Given the description of an element on the screen output the (x, y) to click on. 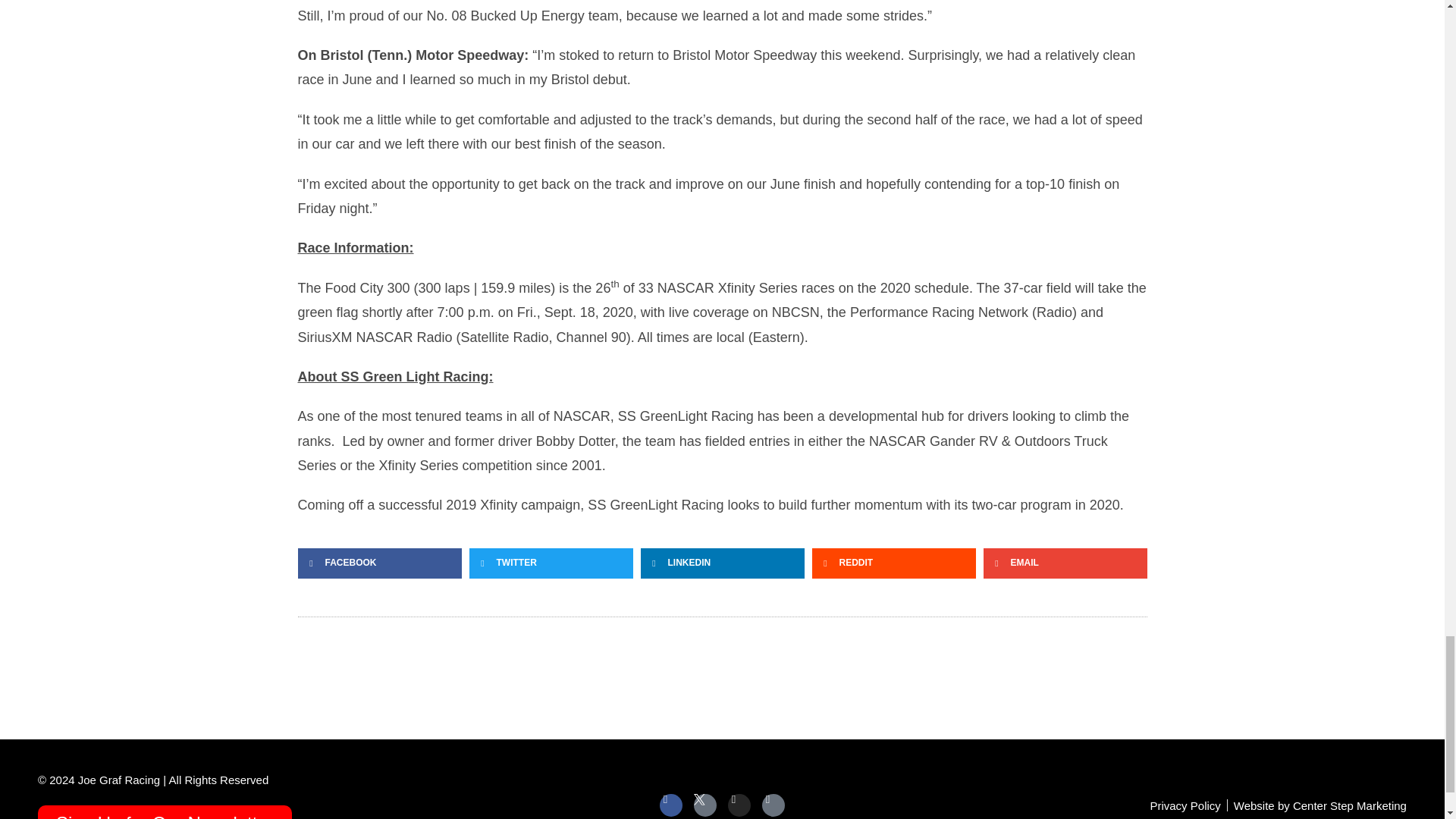
Sign Up for Our Newsletter (164, 812)
